Given the description of an element on the screen output the (x, y) to click on. 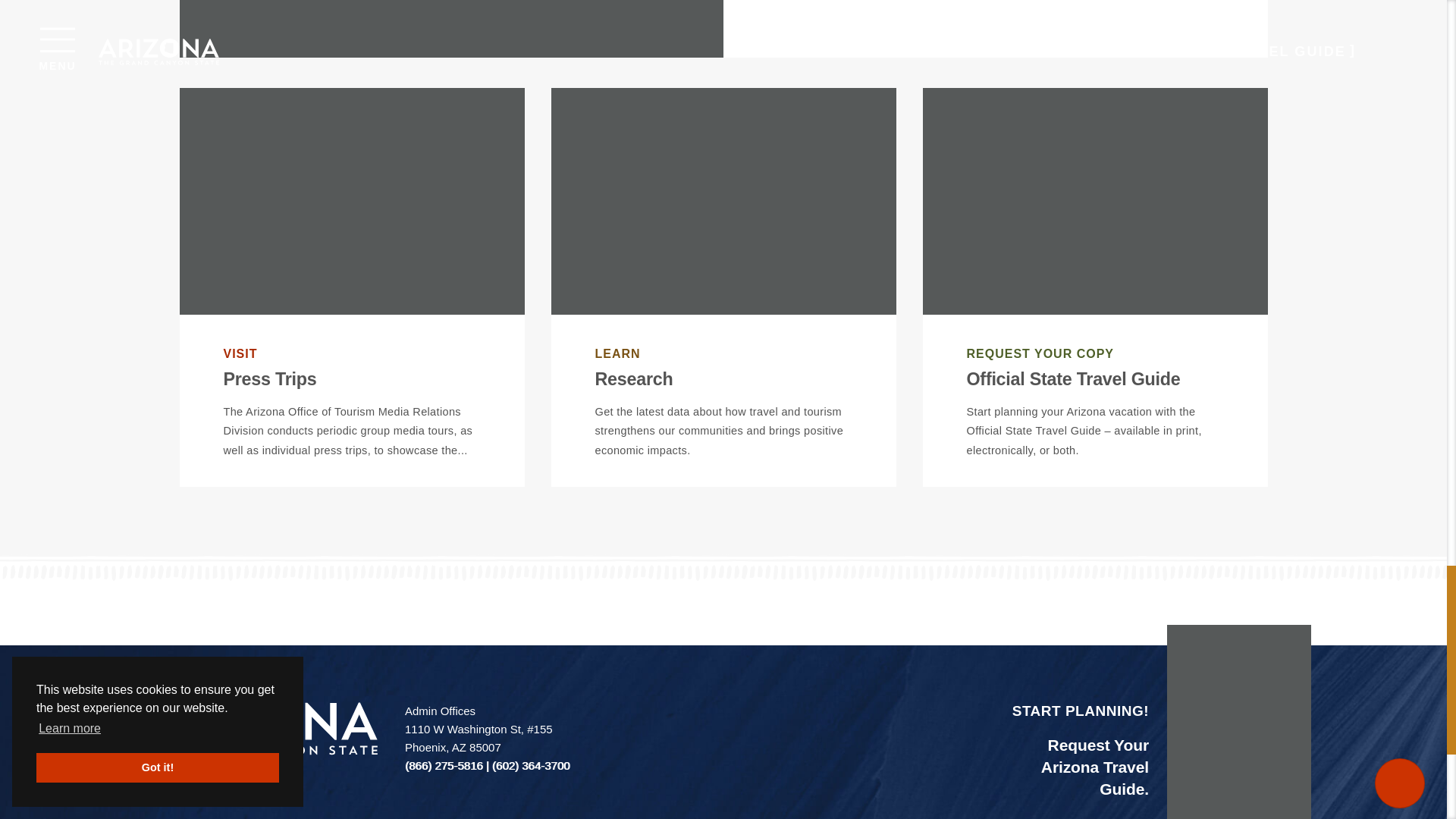
Official State Travel Guide (1072, 379)
Link to Visit Arizona's homepage (256, 728)
Press Trips (268, 379)
Link to Visit Arizona's homepage (256, 728)
Research (633, 379)
